Given the description of an element on the screen output the (x, y) to click on. 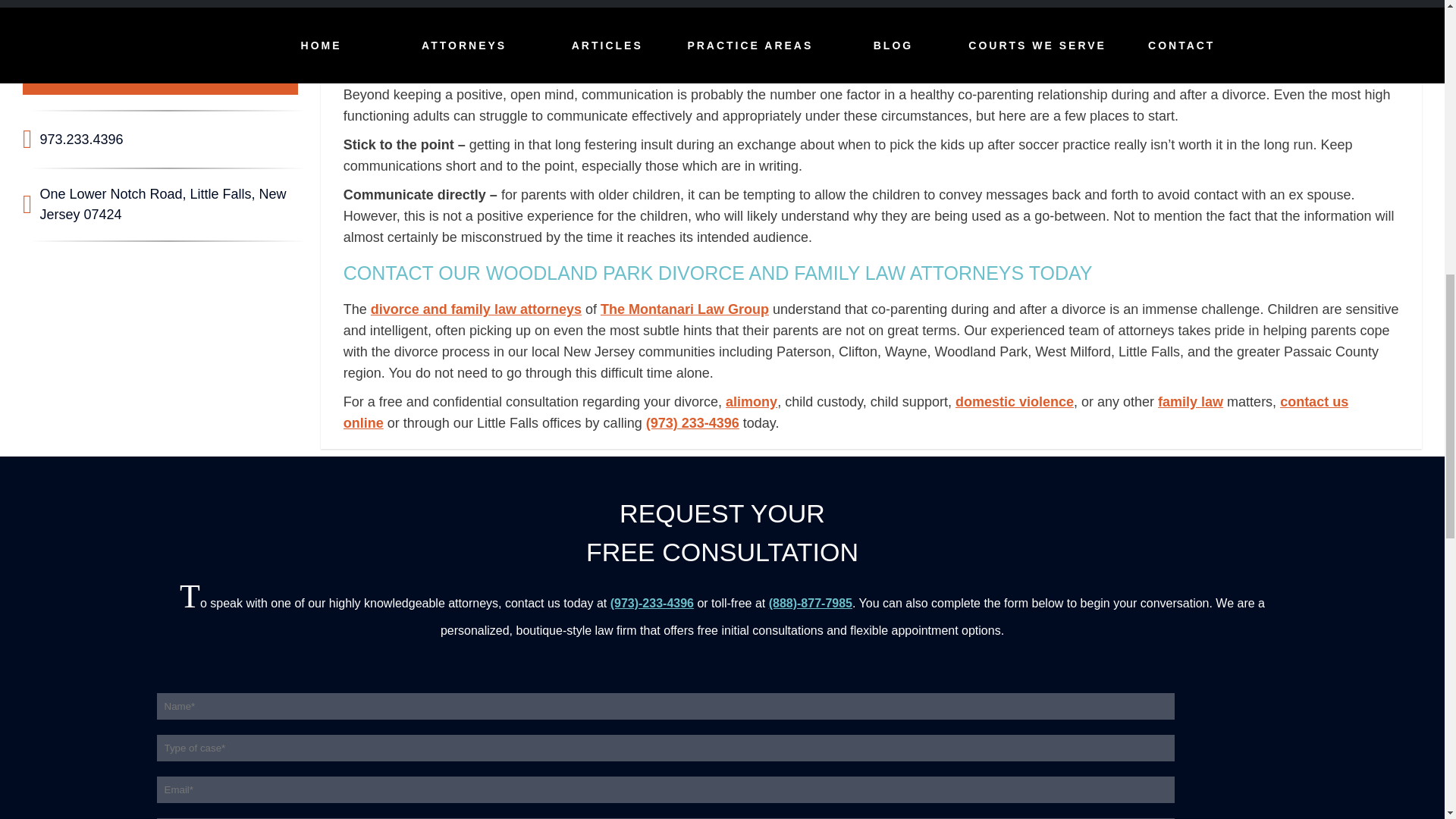
FREE CONSULTATION (160, 76)
